Given the description of an element on the screen output the (x, y) to click on. 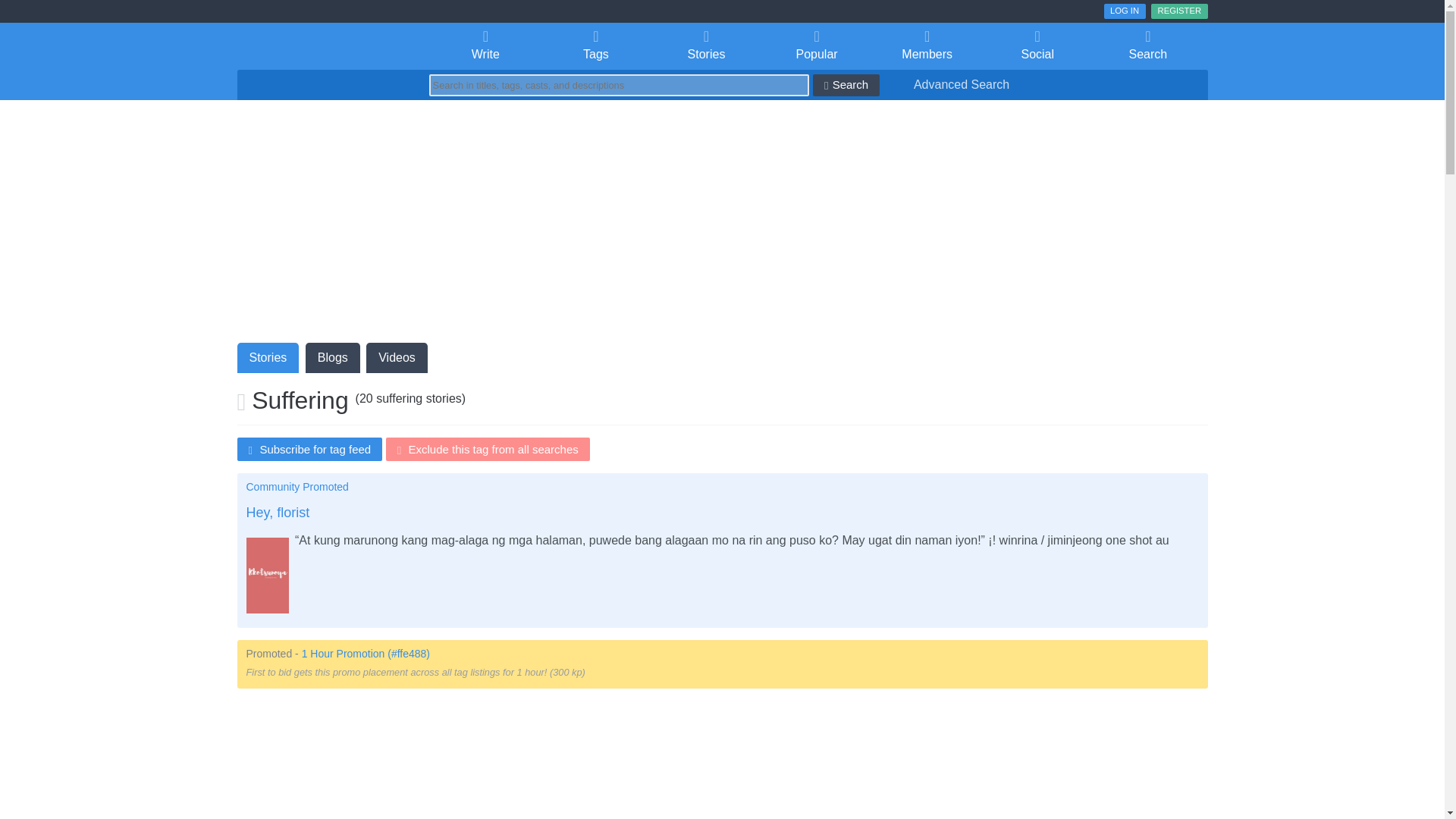
Social (1037, 45)
Tags (595, 45)
Stories (705, 45)
REGISTER (1179, 10)
Write (485, 45)
Popular (816, 45)
LOG IN (1124, 10)
Members (927, 45)
Search (1148, 45)
